Given the description of an element on the screen output the (x, y) to click on. 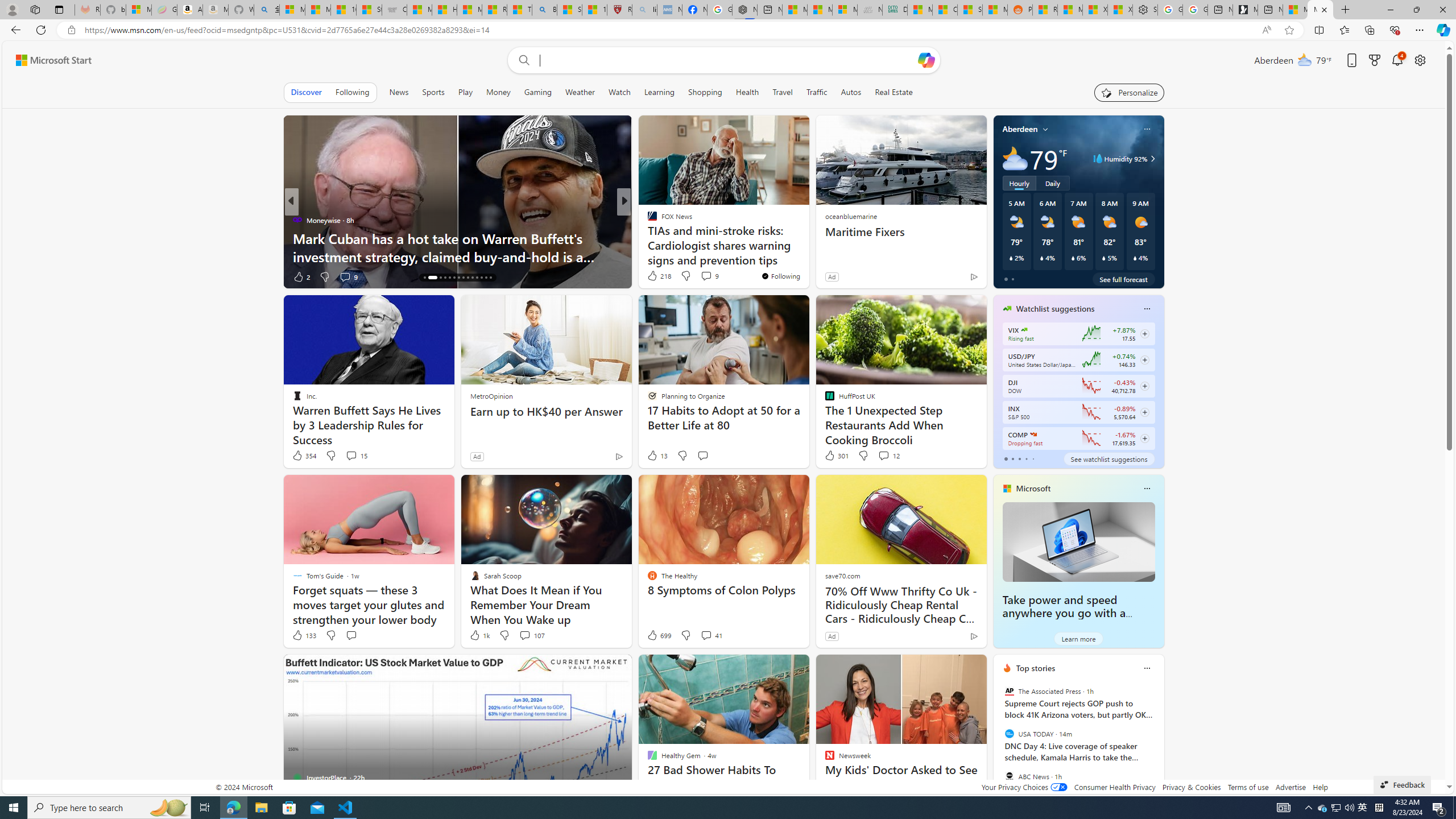
AutomationID: tab-18 (444, 277)
AutomationID: tab-15 (424, 277)
